Given the description of an element on the screen output the (x, y) to click on. 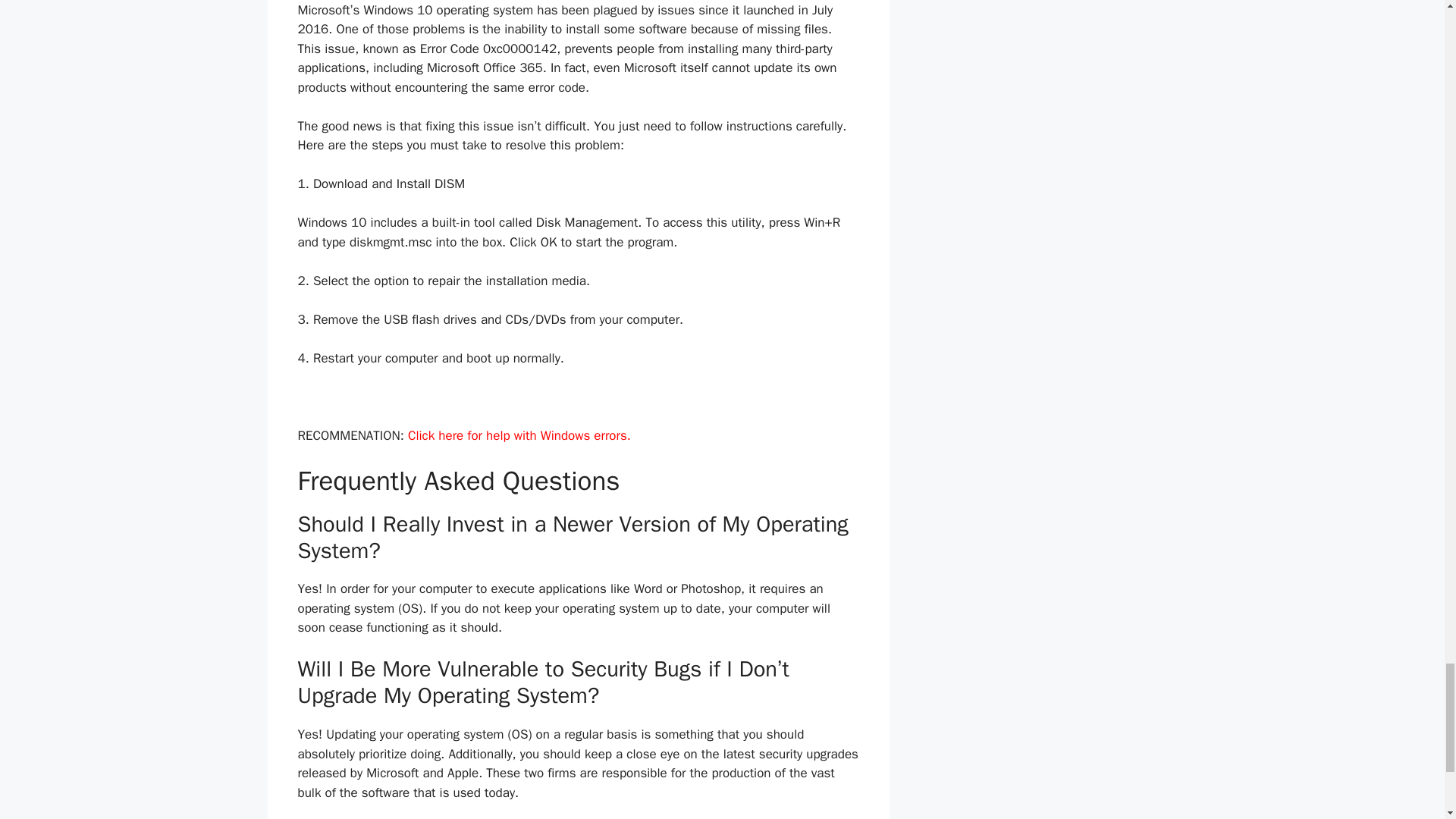
Click here for help with Windows errors. (518, 435)
